Given the description of an element on the screen output the (x, y) to click on. 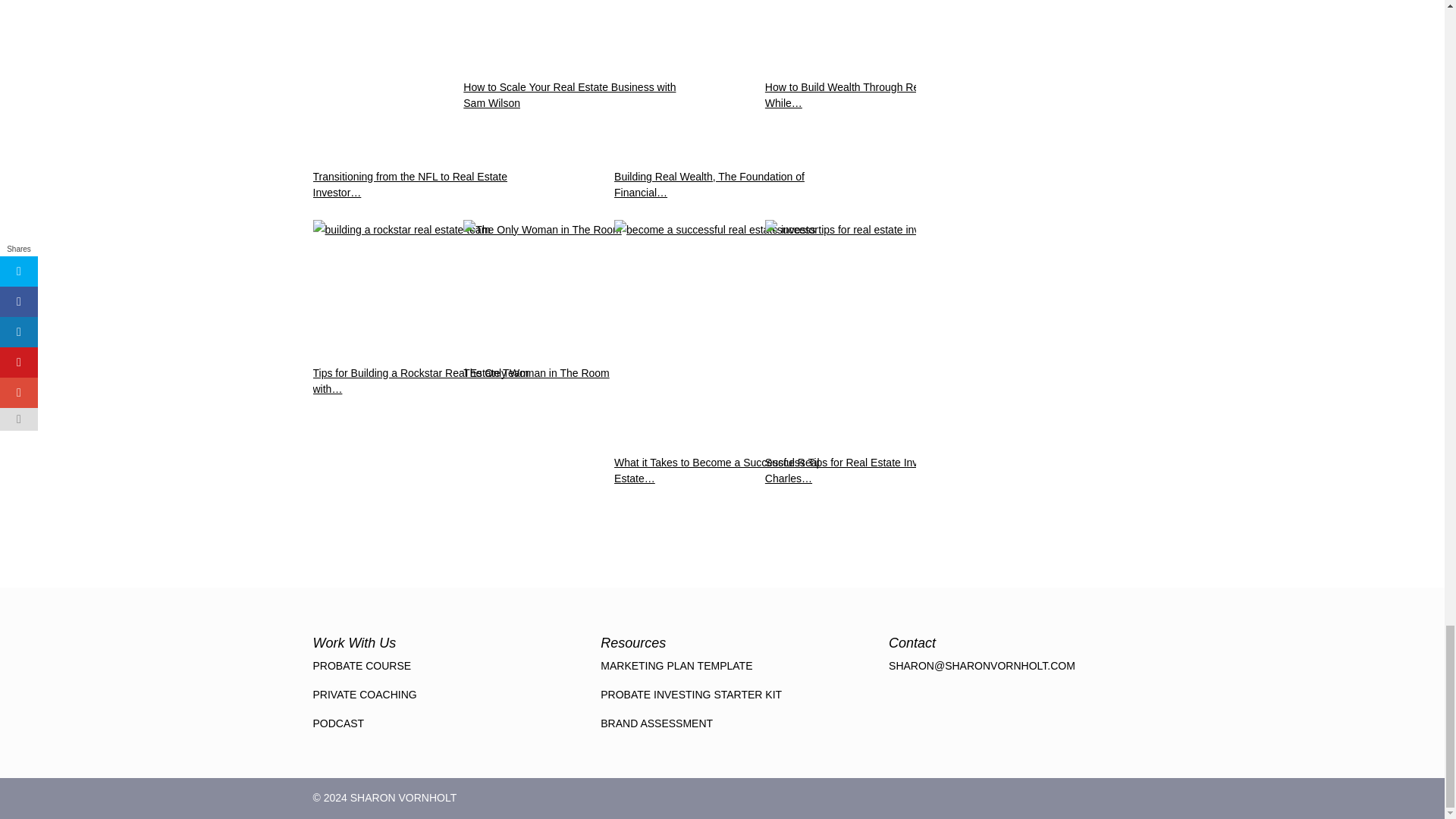
PROBATE INVESTING STARTER KIT (690, 694)
PROBATE COURSE (361, 665)
How to Scale Your Real Estate Business with Sam Wilson (576, 99)
PODCAST (338, 723)
MARKETING PLAN TEMPLATE (675, 665)
The Only Woman in The Room (576, 288)
How to Scale Your Real Estate Business with Sam Wilson (576, 35)
